Given the description of an element on the screen output the (x, y) to click on. 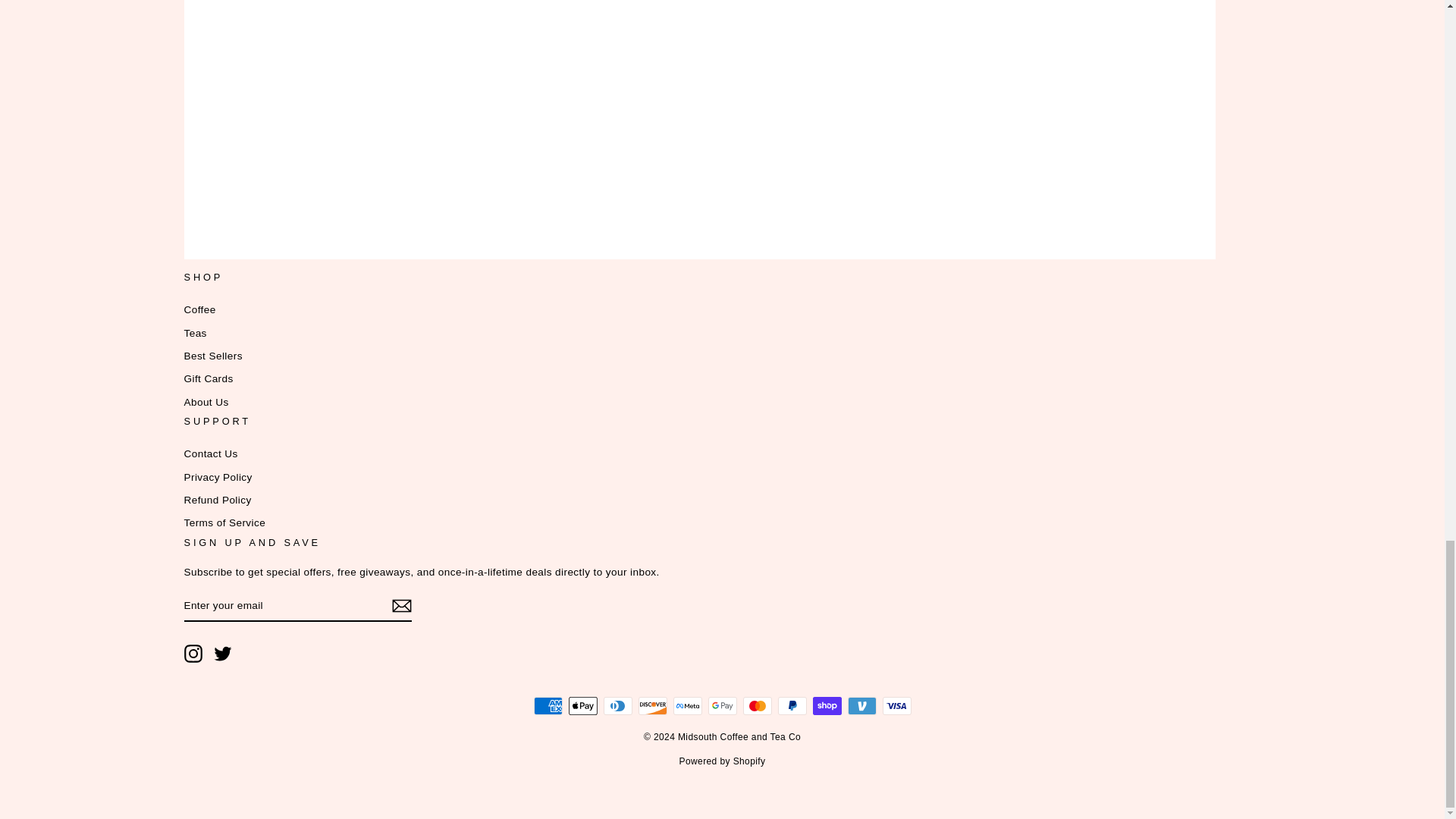
Discover (652, 705)
Apple Pay (582, 705)
Meta Pay (686, 705)
Diners Club (617, 705)
Mastercard (756, 705)
Google Pay (721, 705)
Shop Pay (826, 705)
American Express (548, 705)
Venmo (861, 705)
PayPal (791, 705)
Midsouth Coffee and Tea Co on Twitter (222, 653)
Midsouth Coffee and Tea Co on Instagram (192, 653)
